Given the description of an element on the screen output the (x, y) to click on. 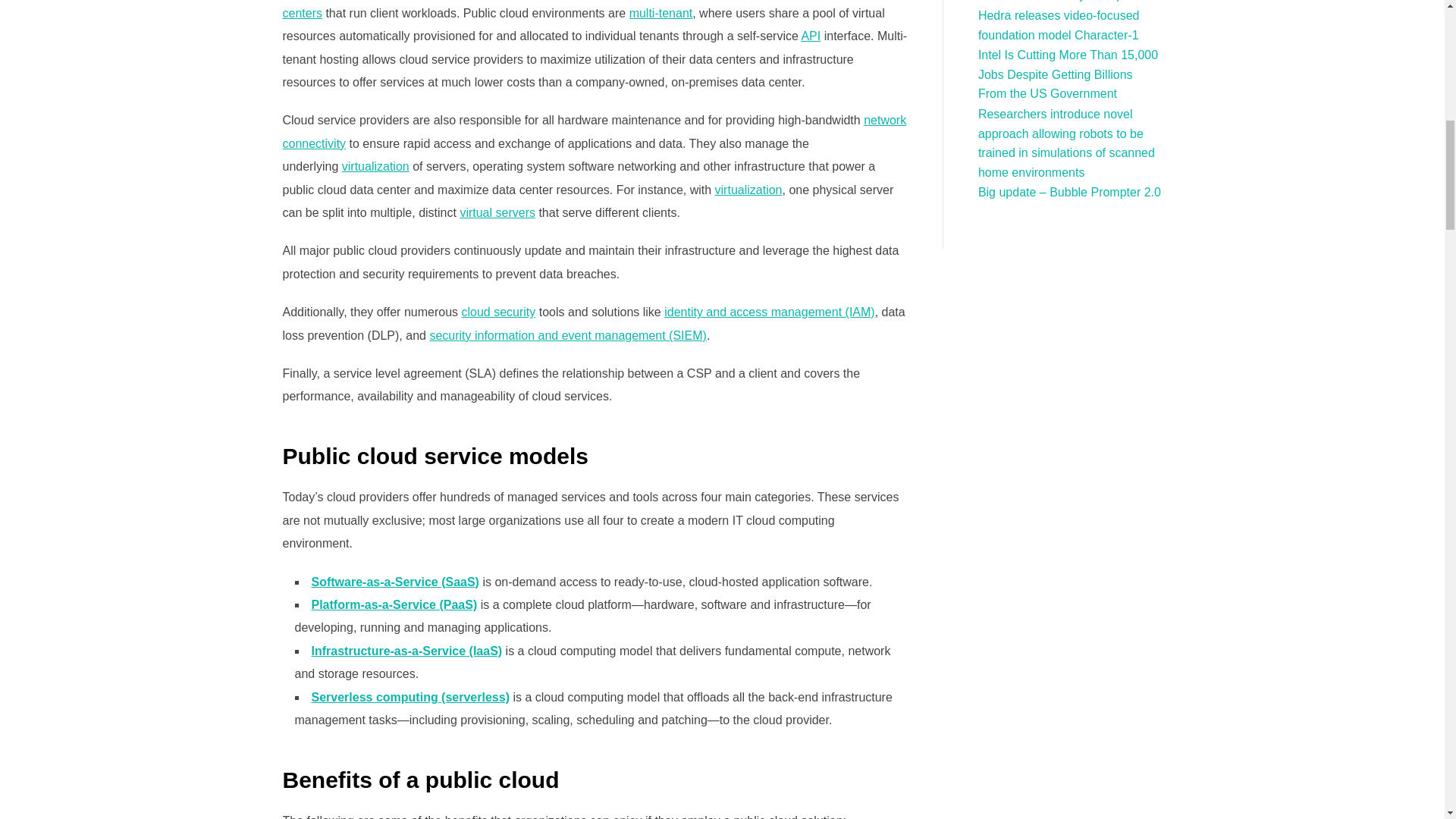
network connectivity (593, 131)
multi-tenant (660, 12)
data centers (562, 9)
API (810, 35)
